Given the description of an element on the screen output the (x, y) to click on. 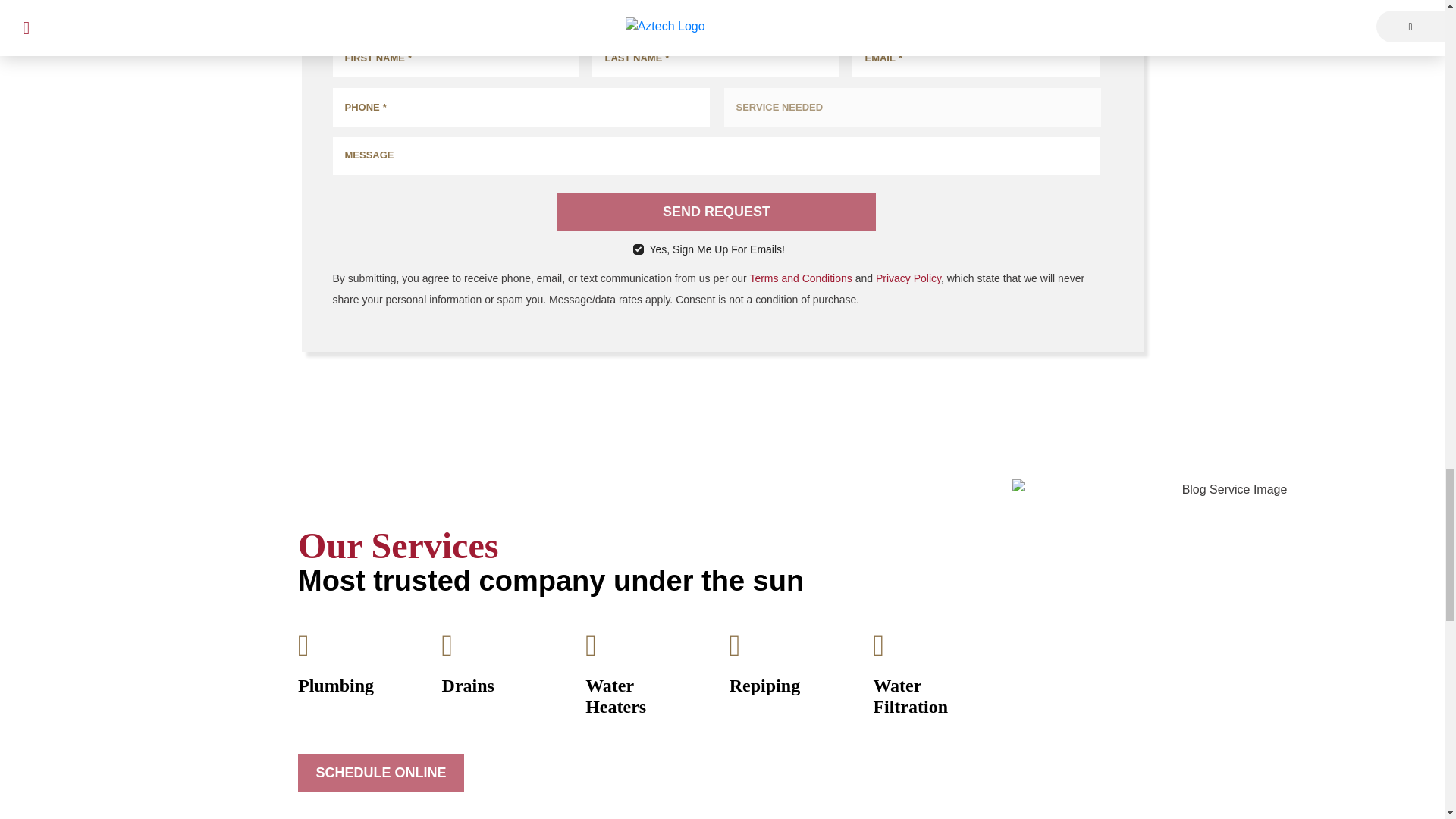
Yes, sign me up for emails! (637, 249)
